Given the description of an element on the screen output the (x, y) to click on. 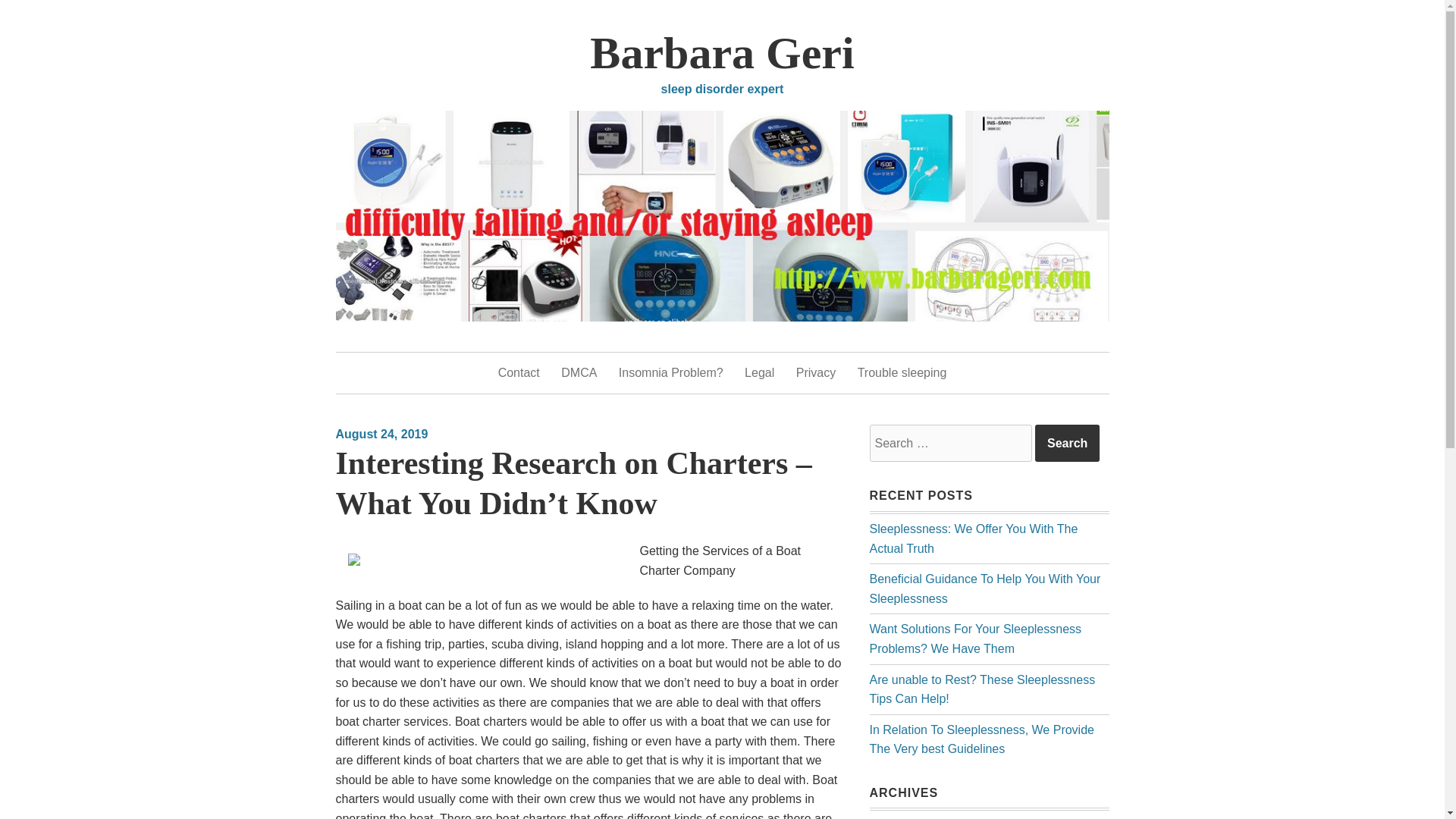
Legal (759, 373)
Search (1067, 443)
Search (1067, 443)
Search (1067, 443)
Barbara Geri (721, 52)
Are unable to Rest? These Sleeplessness Tips Can Help! (981, 689)
Beneficial Guidance To Help You With Your Sleeplessness (984, 588)
August 24, 2019 (381, 433)
Trouble sleeping (902, 373)
Privacy (815, 373)
